Given the description of an element on the screen output the (x, y) to click on. 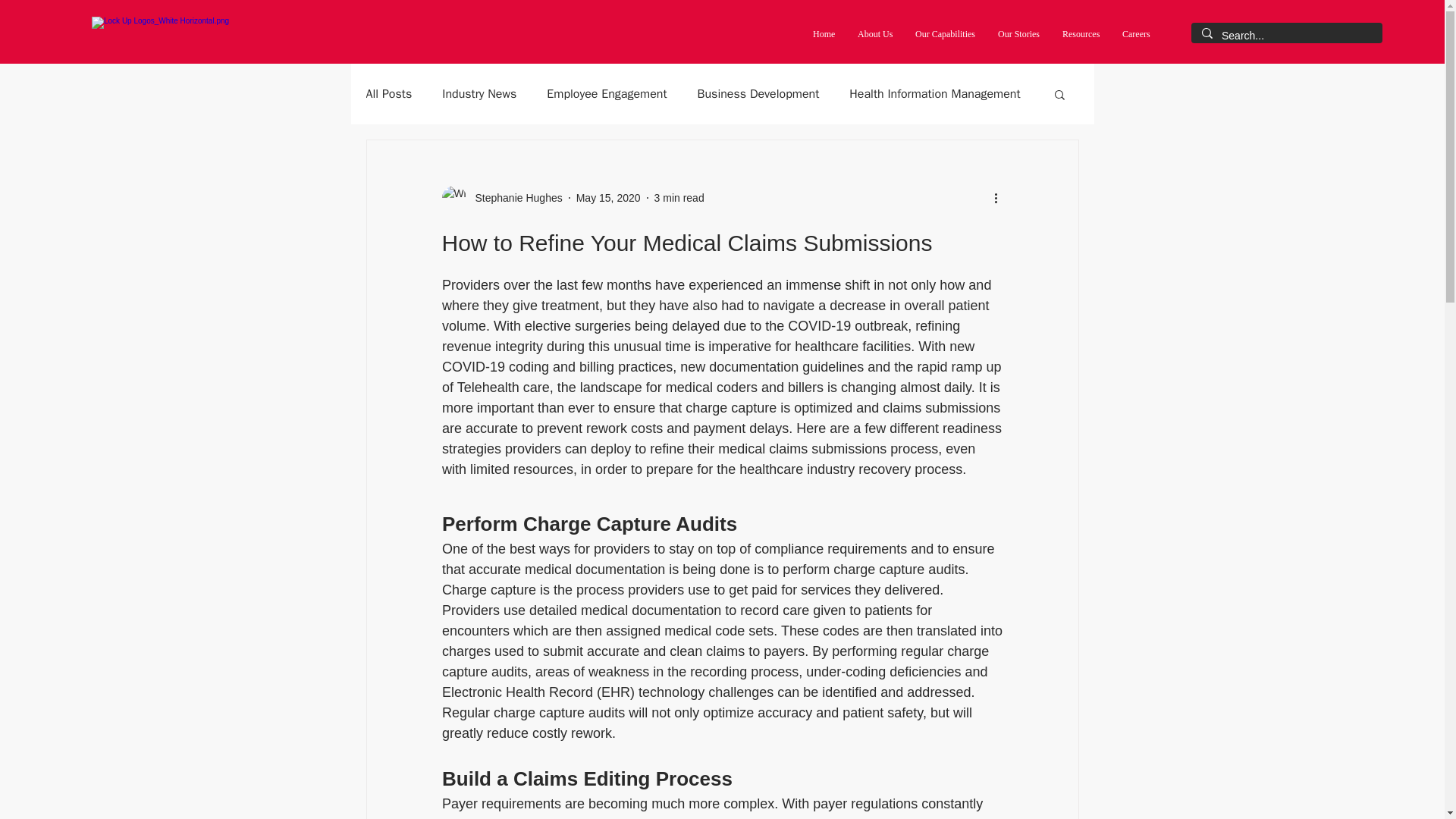
Employee Engagement (606, 94)
Resources (1080, 34)
3 min read (678, 196)
Our Capabilities (945, 34)
Careers (1135, 34)
All Posts (388, 94)
Stephanie Hughes (513, 197)
Industry News (479, 94)
Stephanie Hughes (501, 197)
May 15, 2020 (608, 196)
